Given the description of an element on the screen output the (x, y) to click on. 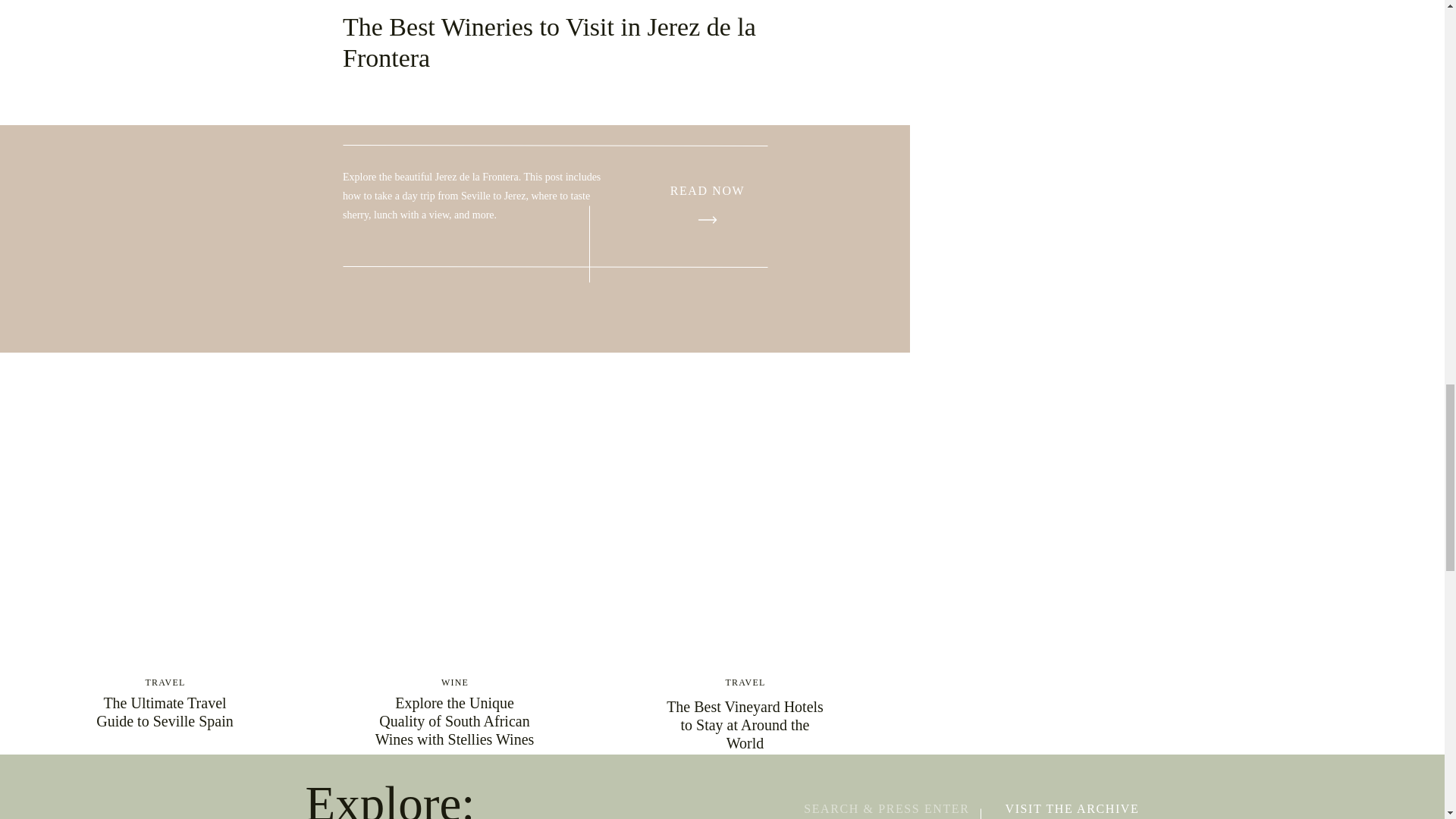
TRAVEL (165, 682)
The Best Wineries to Visit in Jerez de la Frontera (548, 42)
WINE (454, 682)
TRAVEL (745, 682)
The Best Wineries to Visit in Jerez de la Frontera (707, 219)
The Best Wineries to Visit in Jerez de la Frontera (707, 191)
The Best Vineyard Hotels to Stay at Around the World (745, 724)
The Ultimate Travel Guide to Seville Spain (164, 711)
READ NOW (707, 191)
